Given the description of an element on the screen output the (x, y) to click on. 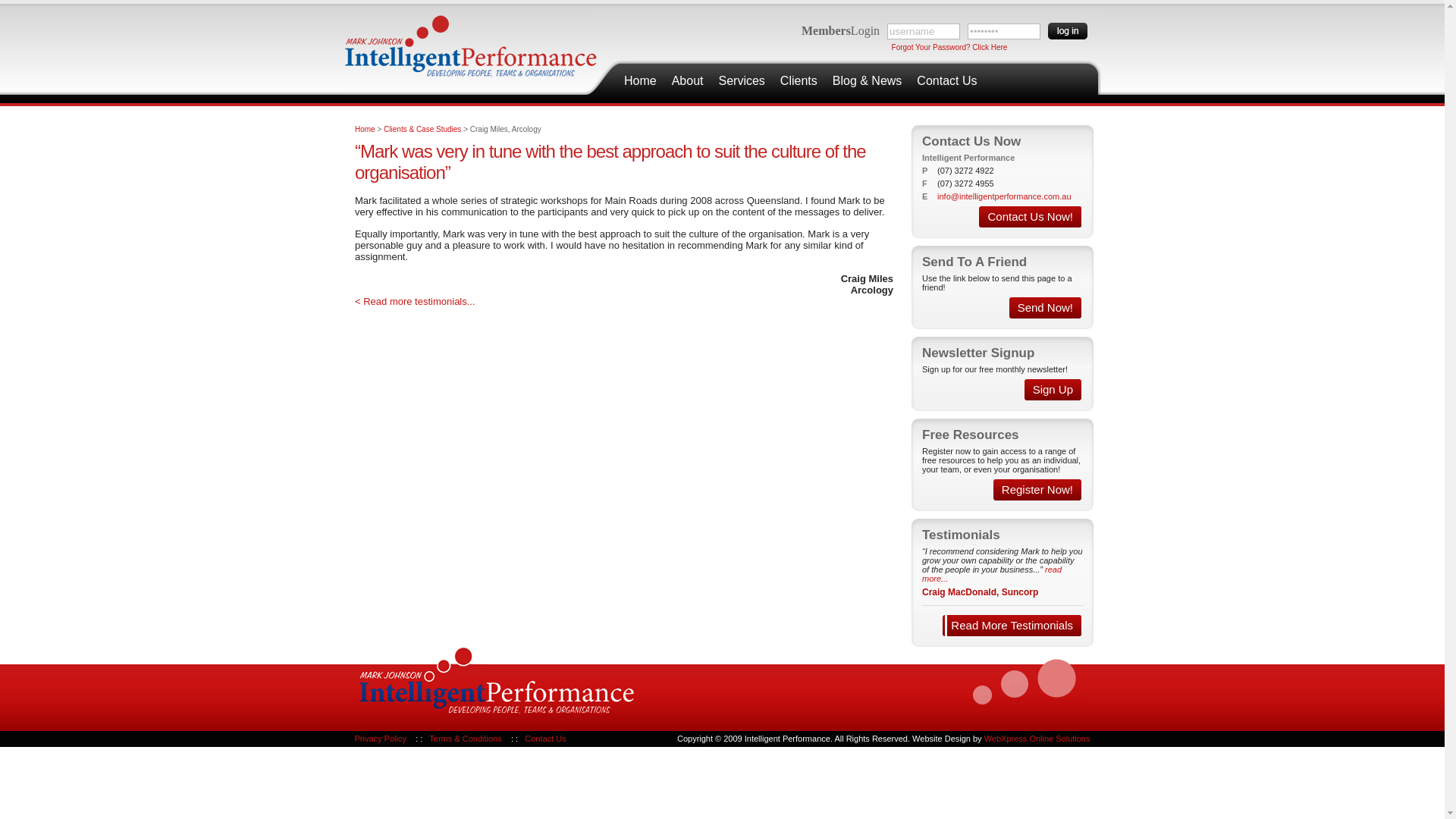
Forgot Your Password? Click Here Element type: text (949, 47)
Register Now! Element type: text (1037, 489)
Home Element type: text (639, 80)
Contact Us Element type: text (946, 80)
WebXpress Online Solutions Element type: text (1037, 738)
Send Now! Element type: text (1045, 307)
Contact Us Now! Element type: text (1030, 216)
Read More Testimonials Element type: text (1011, 625)
read more... Element type: text (991, 573)
< Read more testimonials... Element type: text (414, 301)
About Element type: text (687, 80)
Home Element type: text (364, 129)
Sign Up Element type: text (1052, 389)
Clients Element type: text (798, 80)
Privacy Policy Element type: text (380, 738)
Blog & News Element type: text (867, 80)
Terms & Conditions Element type: text (465, 738)
info@intelligentperformance.com.au Element type: text (1004, 195)
Services Element type: text (740, 80)
Intelligent Performance Element type: text (469, 44)
Clients & Case Studies Element type: text (422, 129)
Contact Us Element type: text (544, 738)
